Given the description of an element on the screen output the (x, y) to click on. 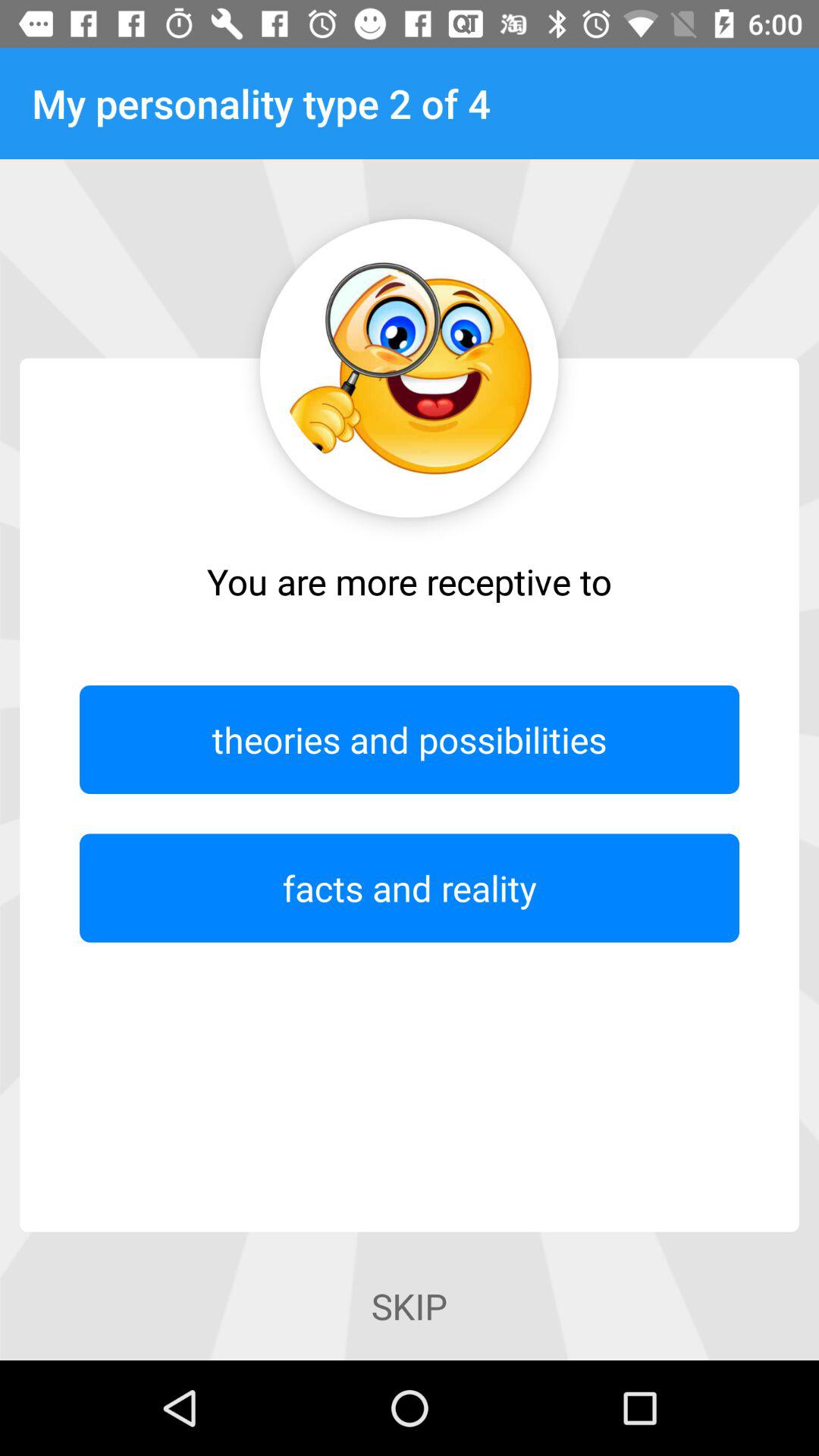
tap skip (409, 1305)
